Given the description of an element on the screen output the (x, y) to click on. 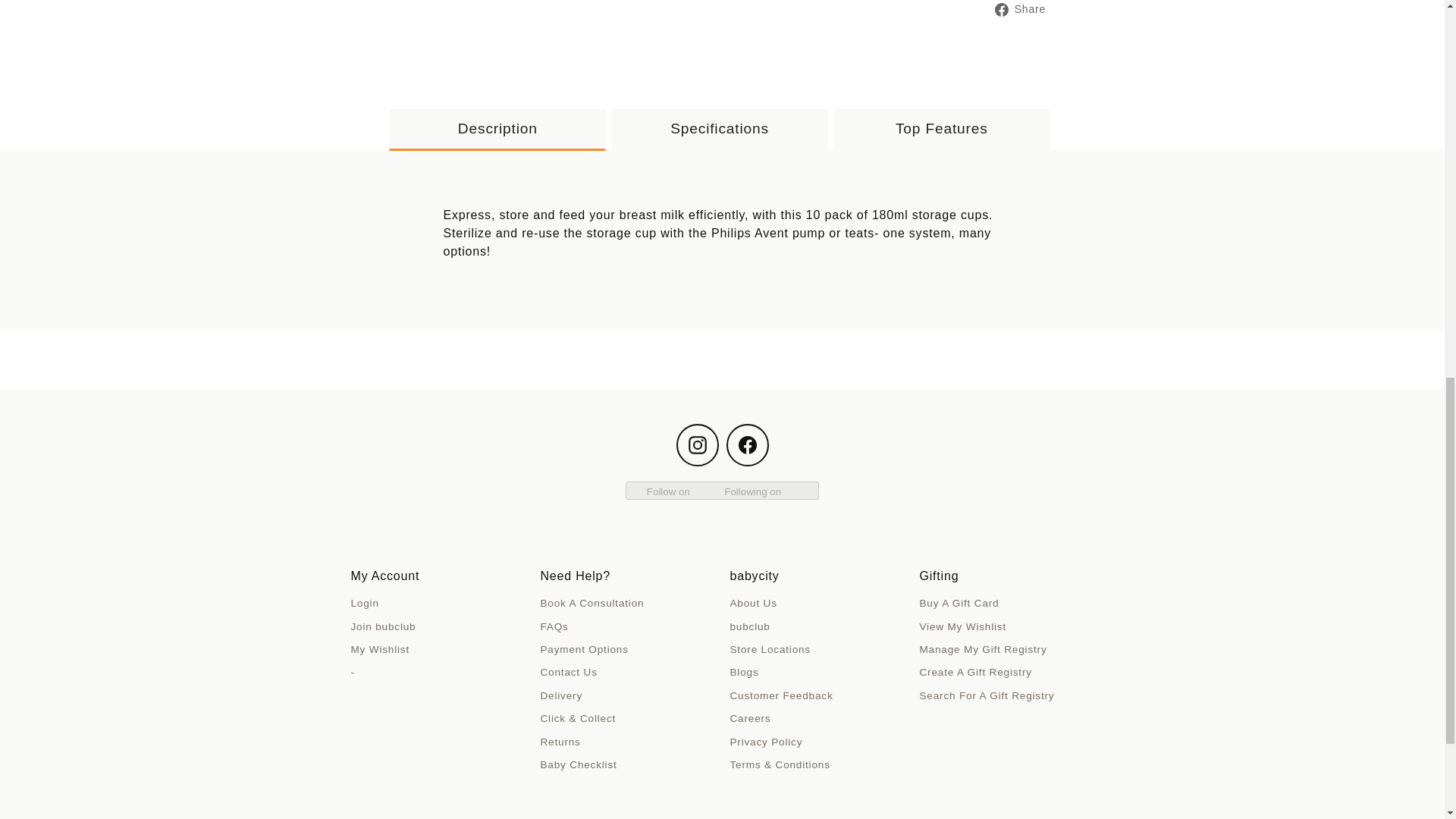
babycity on Facebook (747, 445)
Share on Facebook (1025, 8)
ICON-HAMBURGER (130, 47)
instagram (697, 444)
babycity on Instagram (698, 445)
